Given the description of an element on the screen output the (x, y) to click on. 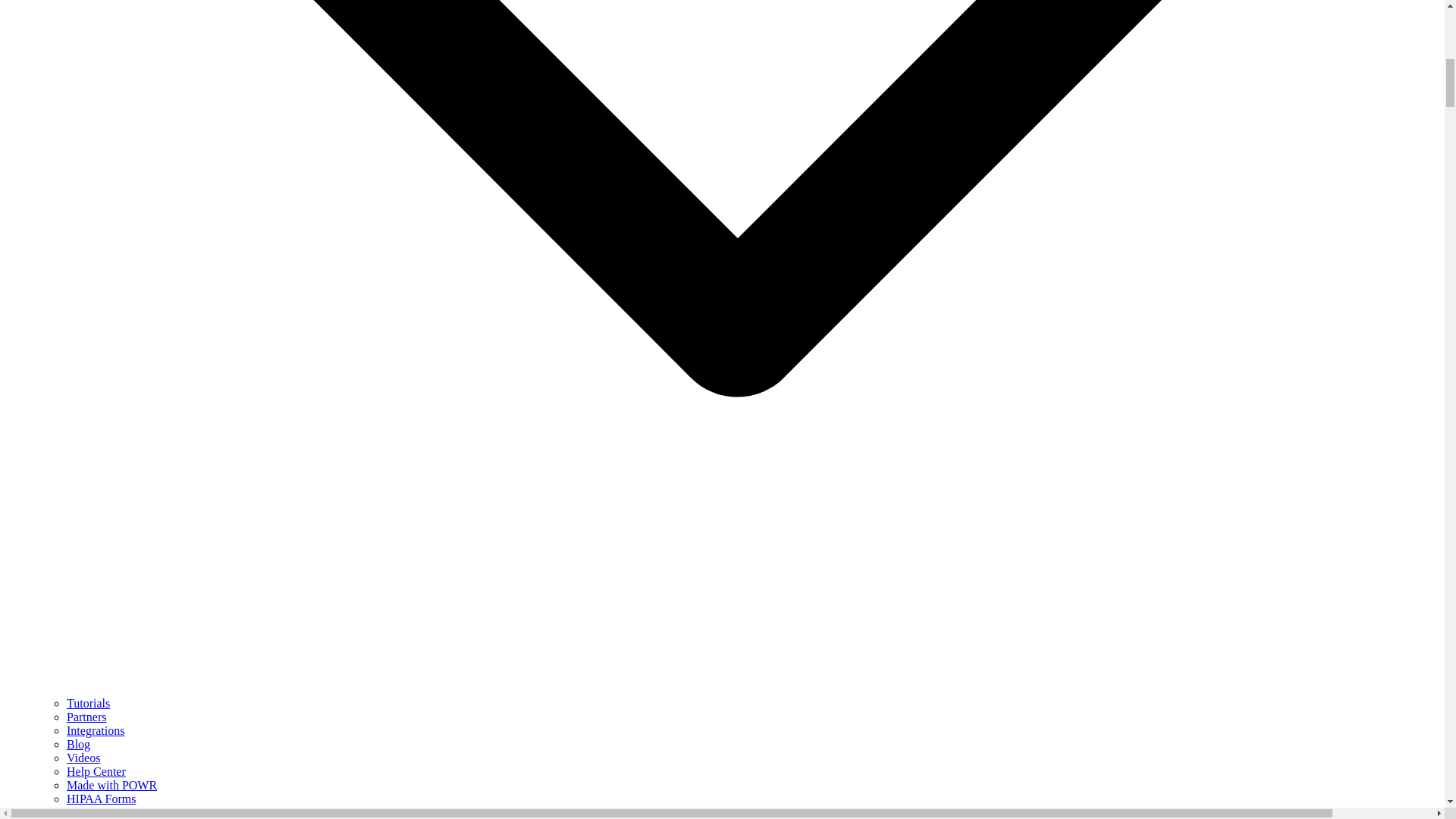
Integrations (94, 730)
Help Center (95, 771)
Blog (78, 744)
Partners (86, 716)
Made with POWR (111, 784)
Tutorials (88, 703)
Videos (83, 757)
HIPAA Forms (100, 798)
Sign Up FREE (72, 812)
